Given the description of an element on the screen output the (x, y) to click on. 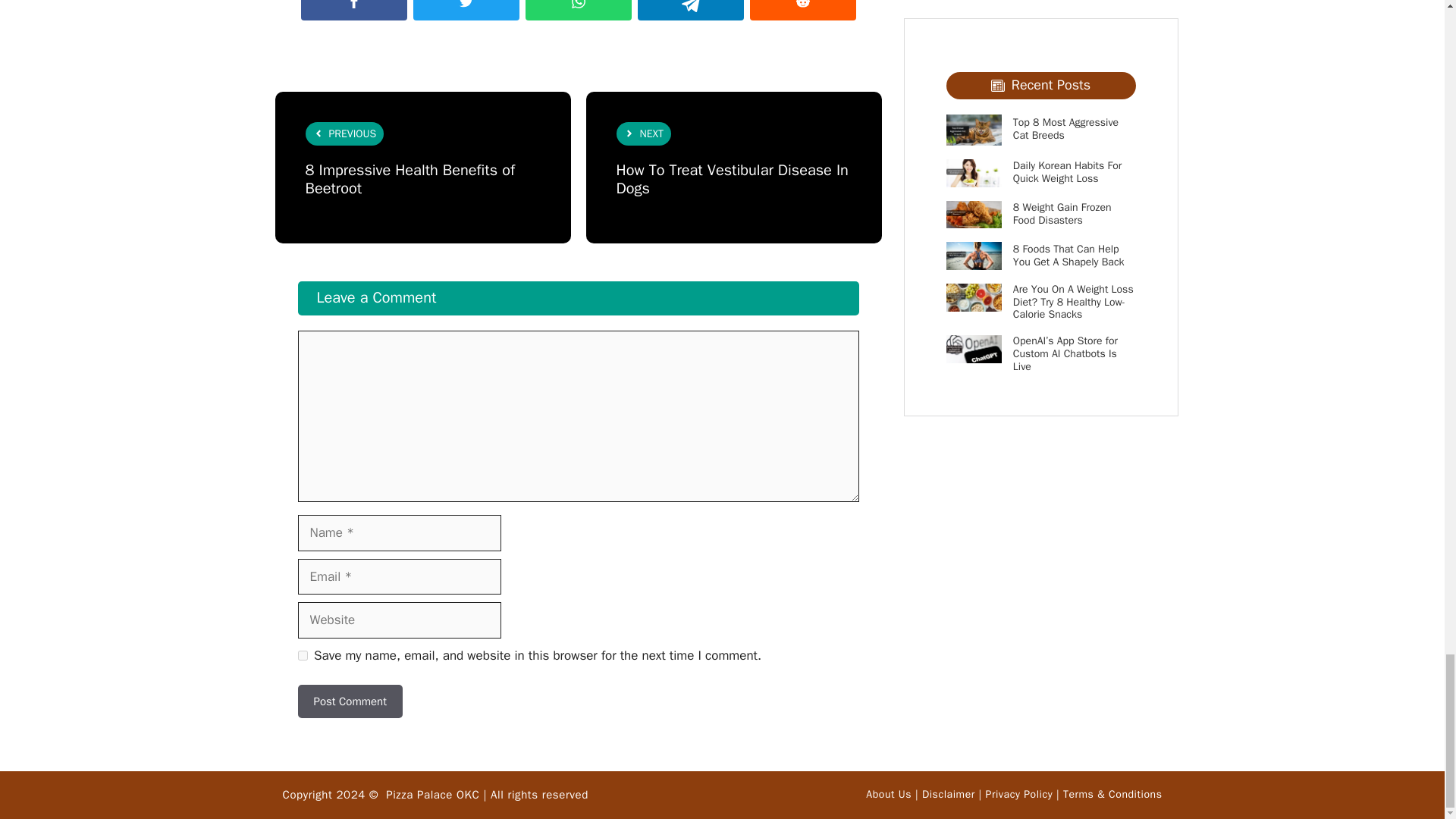
Post Comment (349, 701)
Post Comment (349, 701)
How To Treat Vestibular Disease In Dogs (731, 179)
8 Impressive Health Benefits of Beetroot (408, 179)
yes (302, 655)
